Given the description of an element on the screen output the (x, y) to click on. 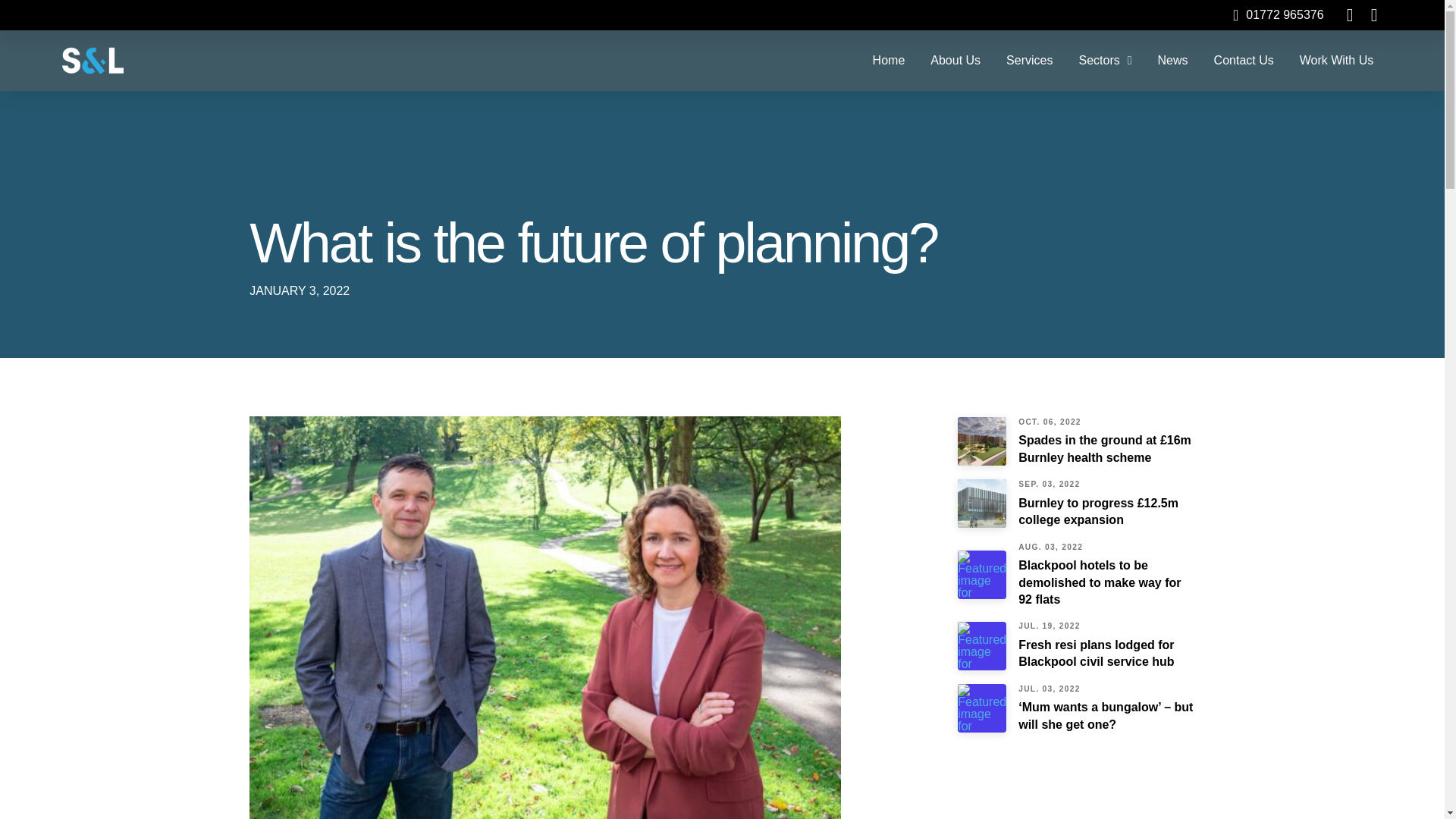
Work With Us (1336, 60)
News (1172, 60)
About Us (954, 60)
Sectors (1104, 60)
Services (1028, 60)
01772 965376 (1278, 16)
Home (889, 60)
Contact Us (1244, 60)
